Given the description of an element on the screen output the (x, y) to click on. 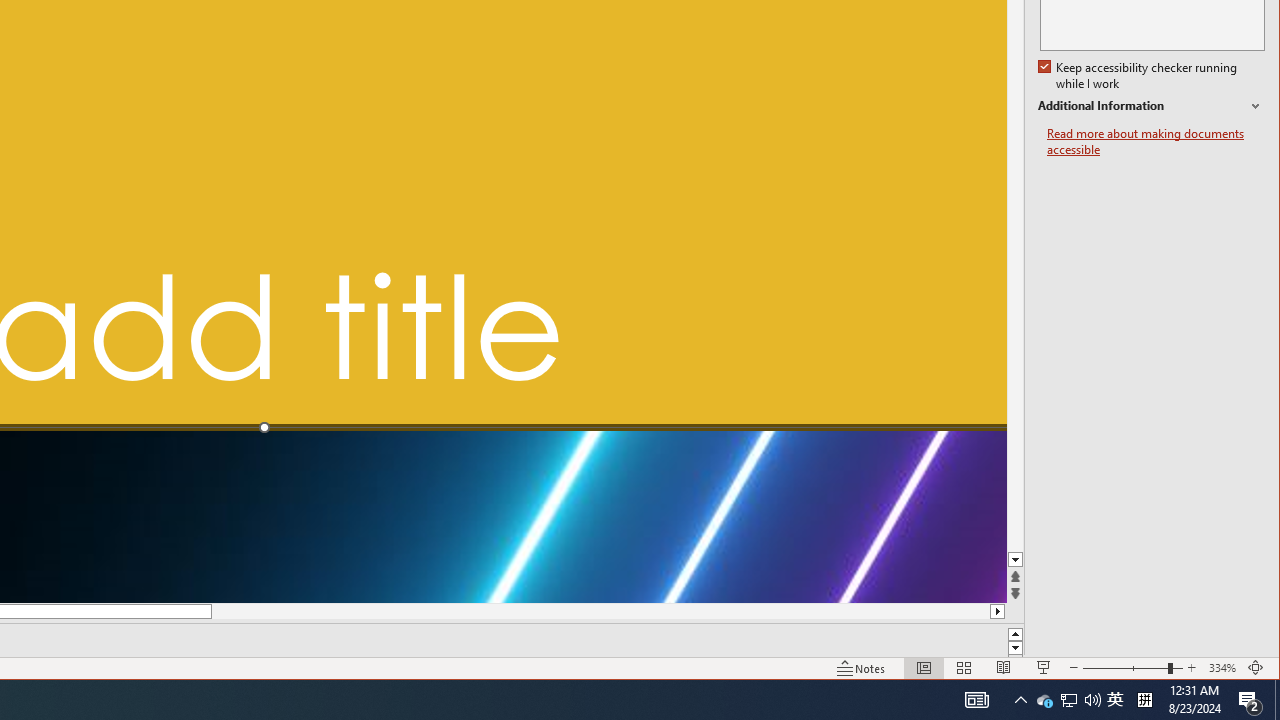
Zoom 334% (1222, 668)
Keep accessibility checker running while I work (1139, 76)
Read more about making documents accessible (1155, 142)
